Given the description of an element on the screen output the (x, y) to click on. 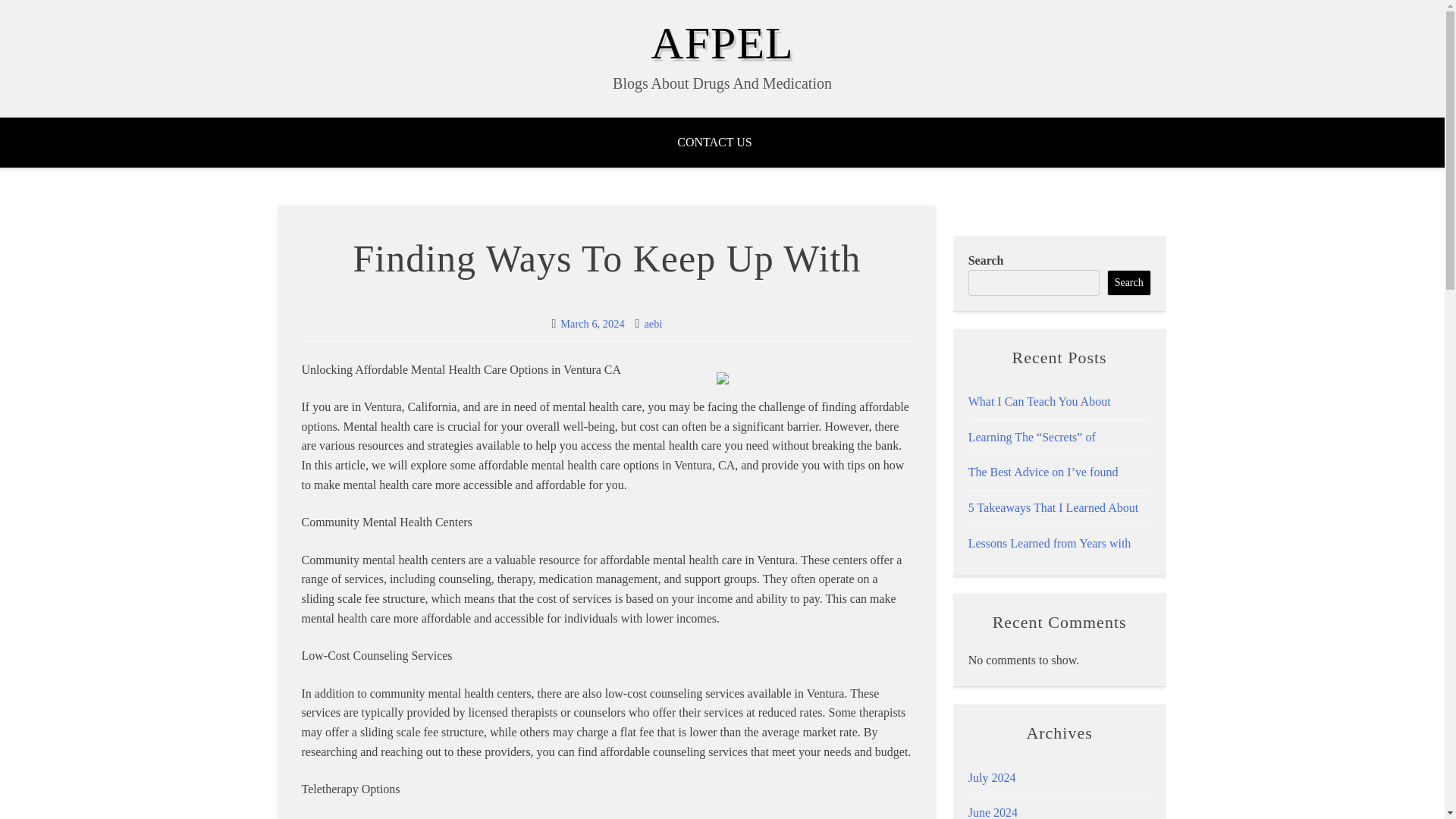
Search (1128, 282)
Lessons Learned from Years with (1049, 543)
5 Takeaways That I Learned About (1053, 507)
June 2024 (992, 812)
aebi (652, 323)
What I Can Teach You About (1039, 400)
March 6, 2024 (592, 323)
CONTACT US (722, 142)
July 2024 (992, 777)
AFPEL (721, 42)
